Given the description of an element on the screen output the (x, y) to click on. 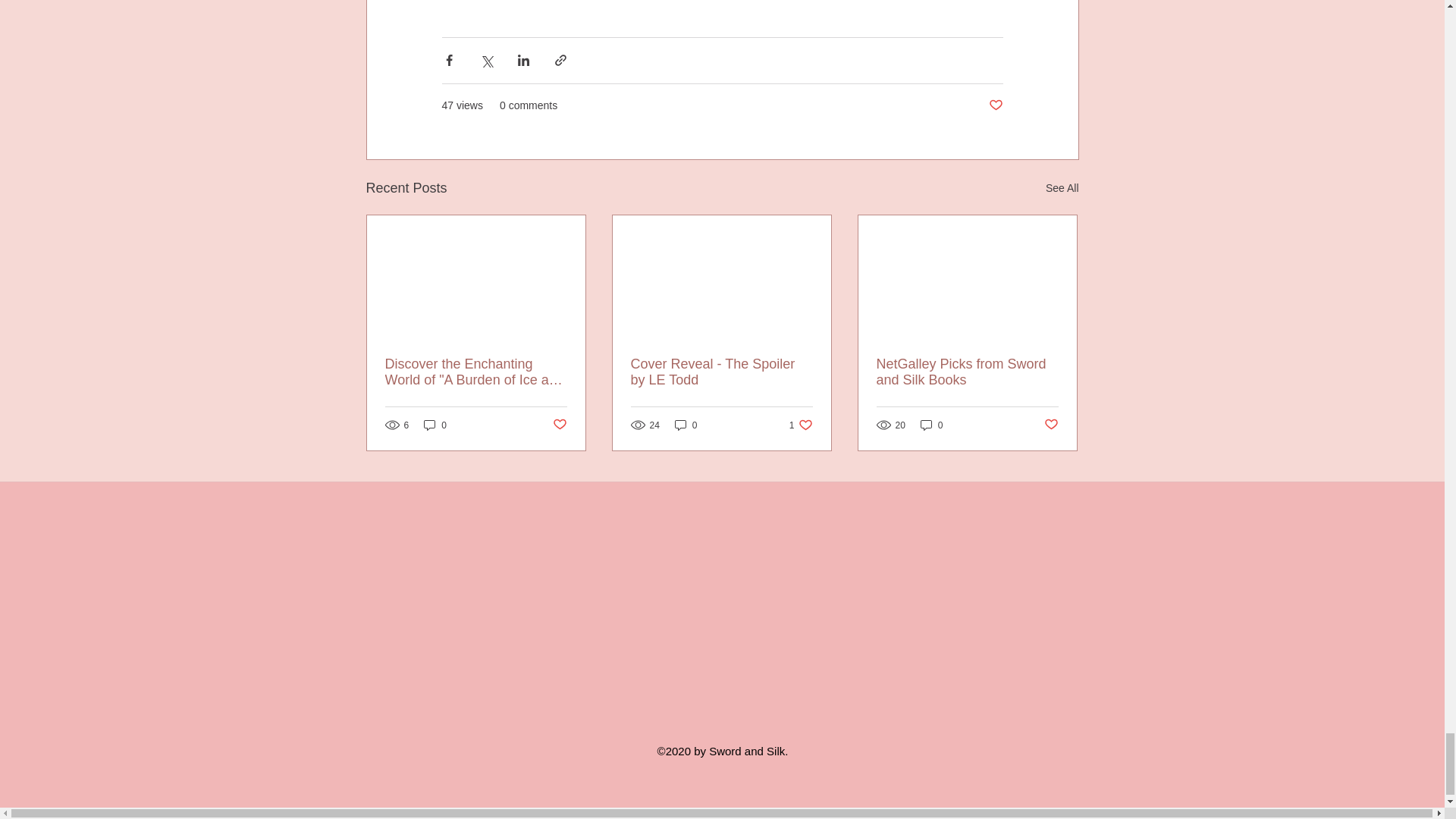
Cover Reveal - The Spoiler by LE Todd (721, 372)
0 (685, 424)
0 (435, 424)
Post not marked as liked (800, 424)
See All (558, 424)
Post not marked as liked (1061, 188)
Discover the Enchanting World of "A Burden of Ice and Bone" (995, 105)
